Given the description of an element on the screen output the (x, y) to click on. 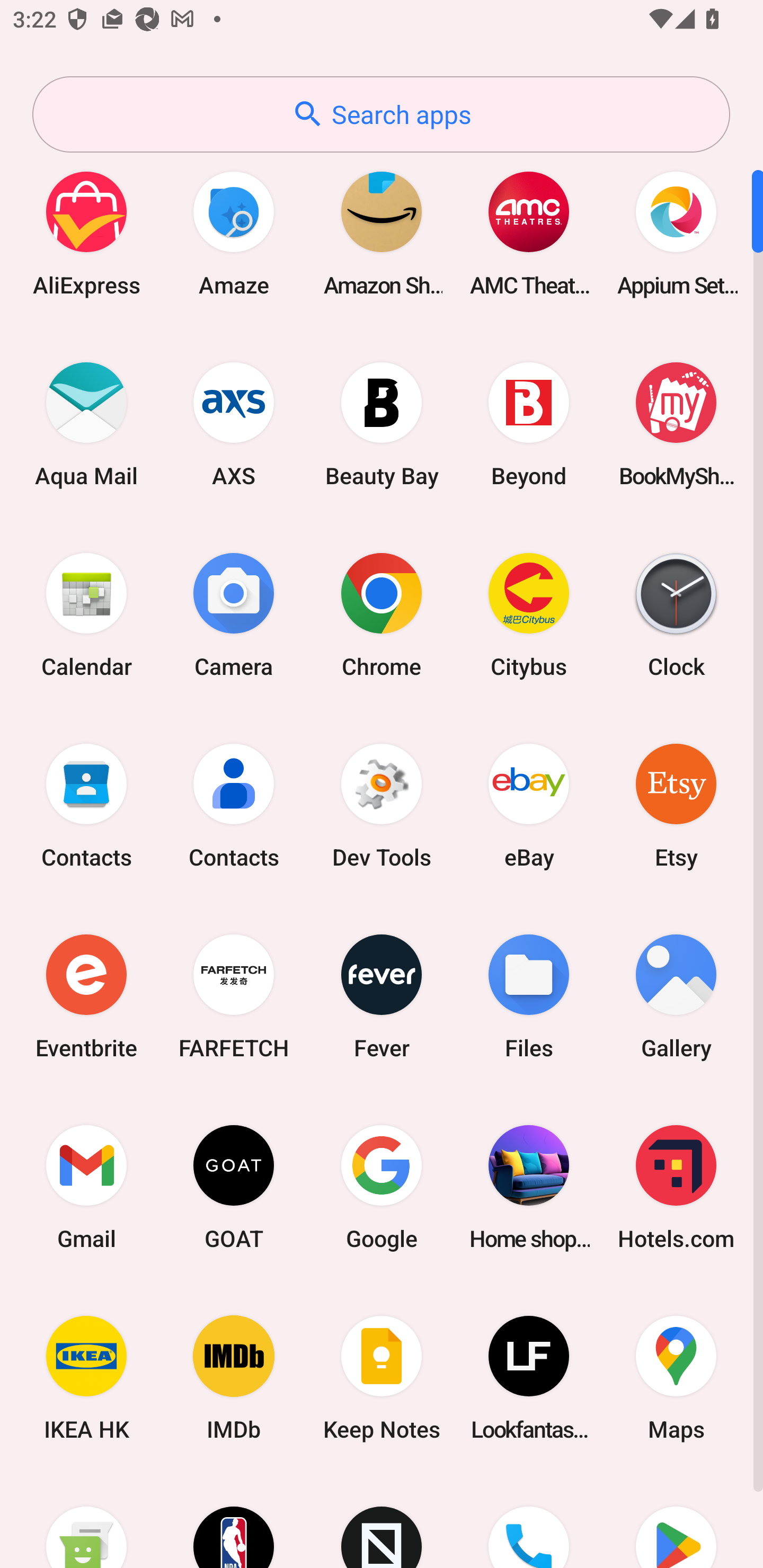
  Search apps (381, 114)
AliExpress (86, 233)
Amaze (233, 233)
Amazon Shopping (381, 233)
AMC Theatres (528, 233)
Appium Settings (676, 233)
Aqua Mail (86, 424)
AXS (233, 424)
Beauty Bay (381, 424)
Beyond (528, 424)
BookMyShow (676, 424)
Calendar (86, 614)
Camera (233, 614)
Chrome (381, 614)
Citybus (528, 614)
Clock (676, 614)
Contacts (86, 805)
Contacts (233, 805)
Dev Tools (381, 805)
eBay (528, 805)
Etsy (676, 805)
Eventbrite (86, 996)
FARFETCH (233, 996)
Fever (381, 996)
Files (528, 996)
Gallery (676, 996)
Gmail (86, 1186)
GOAT (233, 1186)
Google (381, 1186)
Home shopping (528, 1186)
Hotels.com (676, 1186)
IKEA HK (86, 1377)
IMDb (233, 1377)
Keep Notes (381, 1377)
Lookfantastic (528, 1377)
Maps (676, 1377)
